Given the description of an element on the screen output the (x, y) to click on. 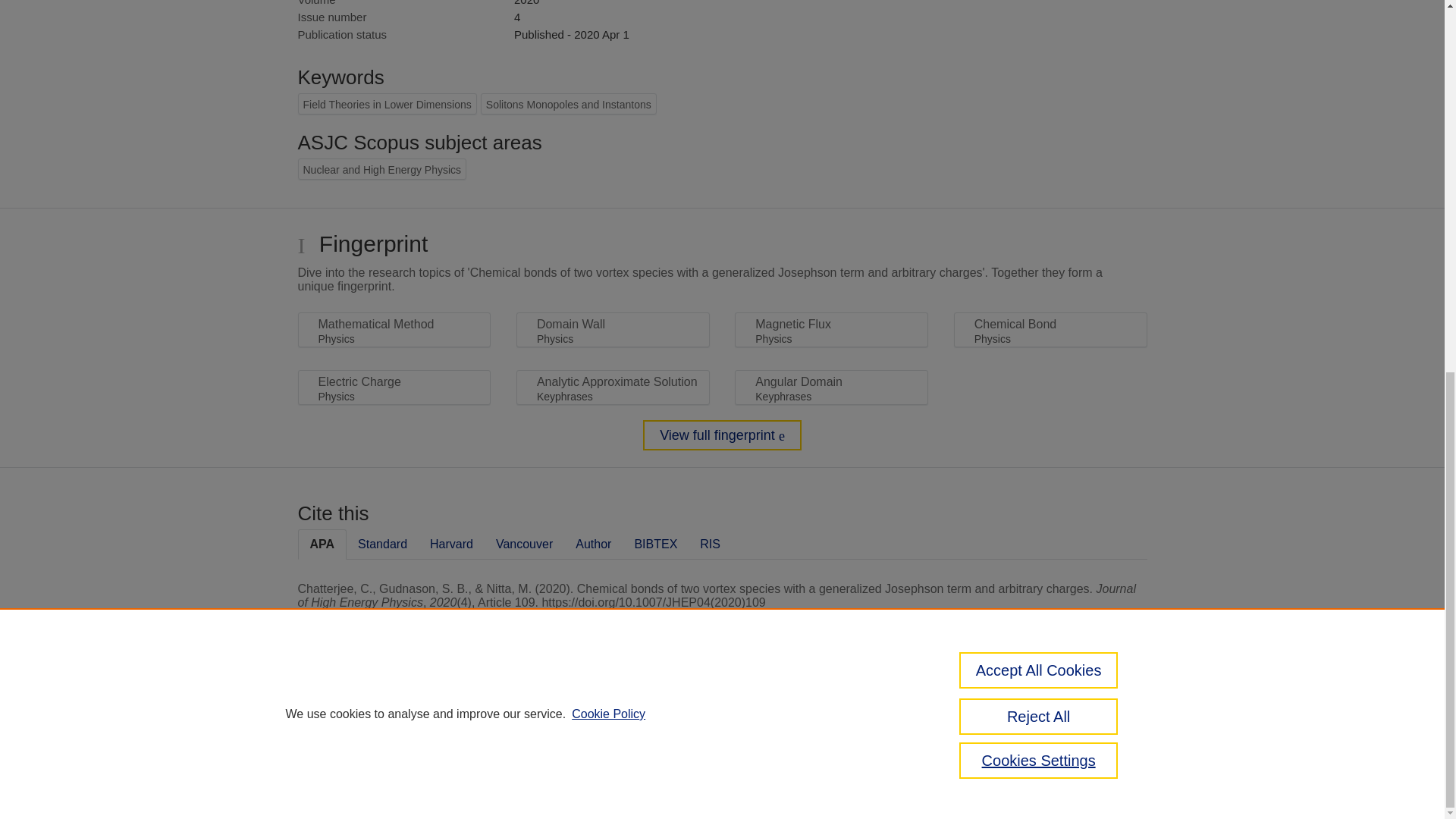
Scopus (394, 708)
Cookies Settings (334, 781)
use of cookies (796, 760)
Elsevier B.V. (506, 728)
Pure (362, 708)
About web accessibility (1088, 713)
Report vulnerability (1088, 745)
View full fingerprint (722, 435)
